Given the description of an element on the screen output the (x, y) to click on. 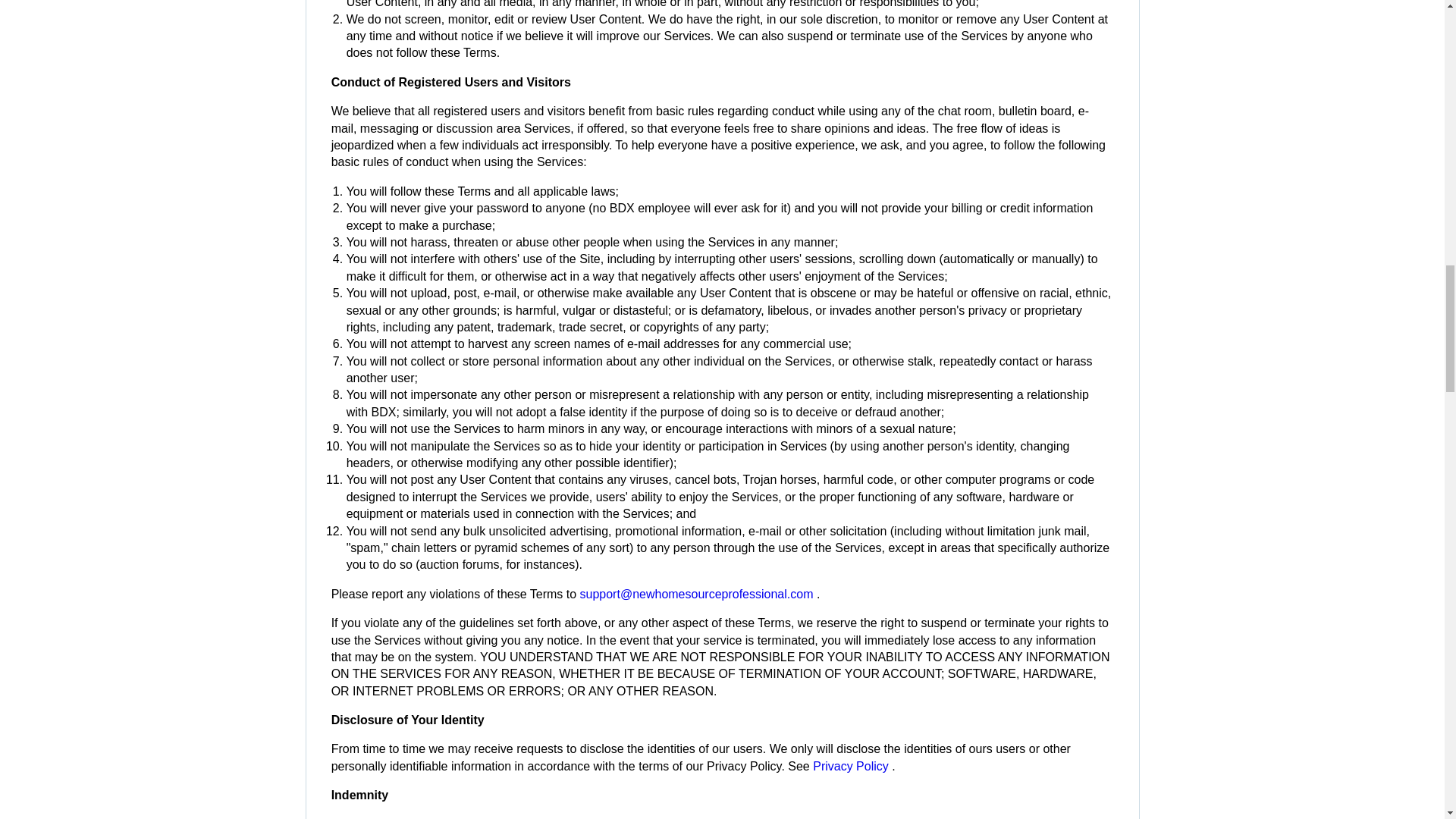
Privacy Policy (851, 766)
